Given the description of an element on the screen output the (x, y) to click on. 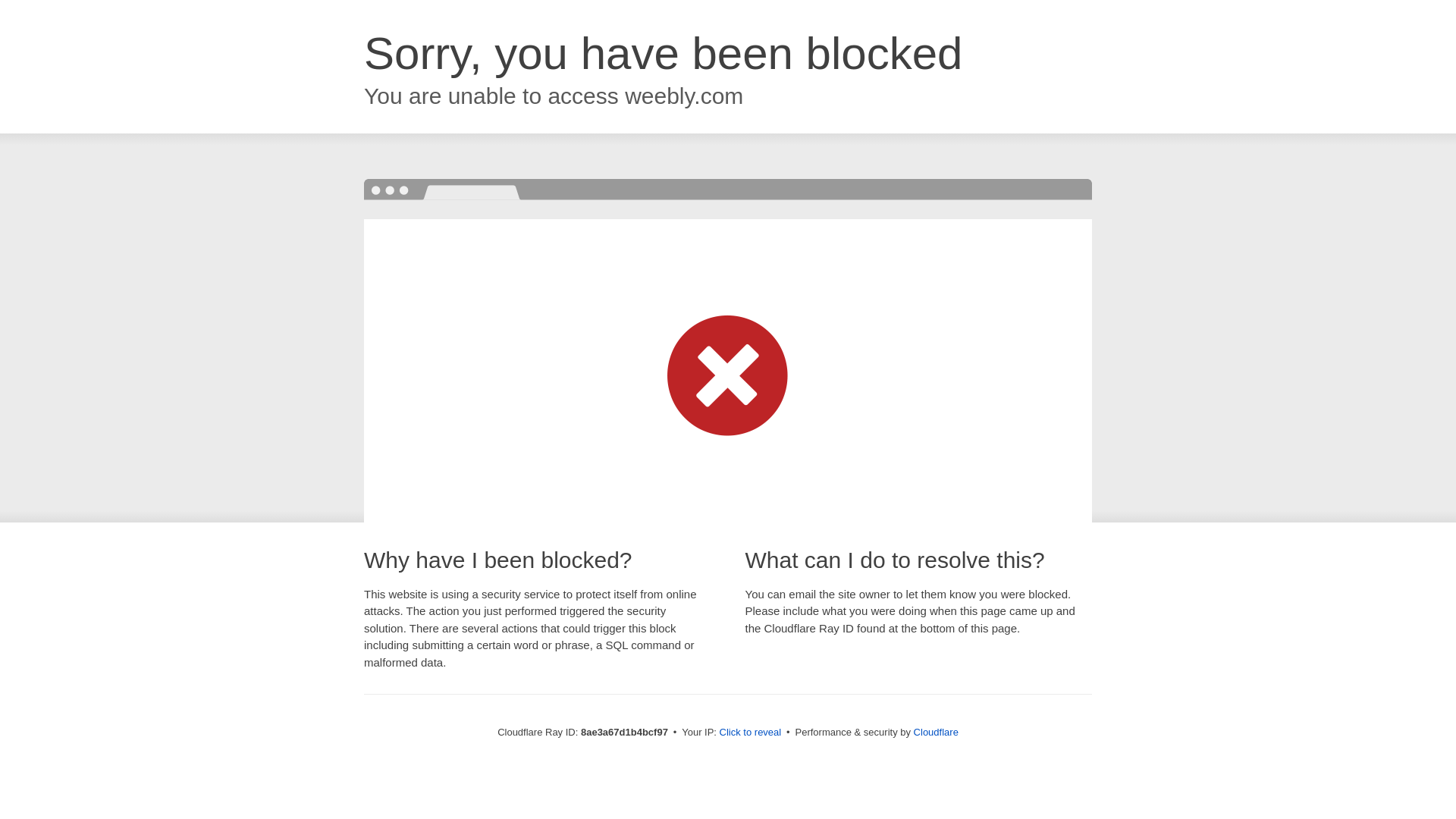
Cloudflare (936, 731)
Click to reveal (750, 732)
